Given the description of an element on the screen output the (x, y) to click on. 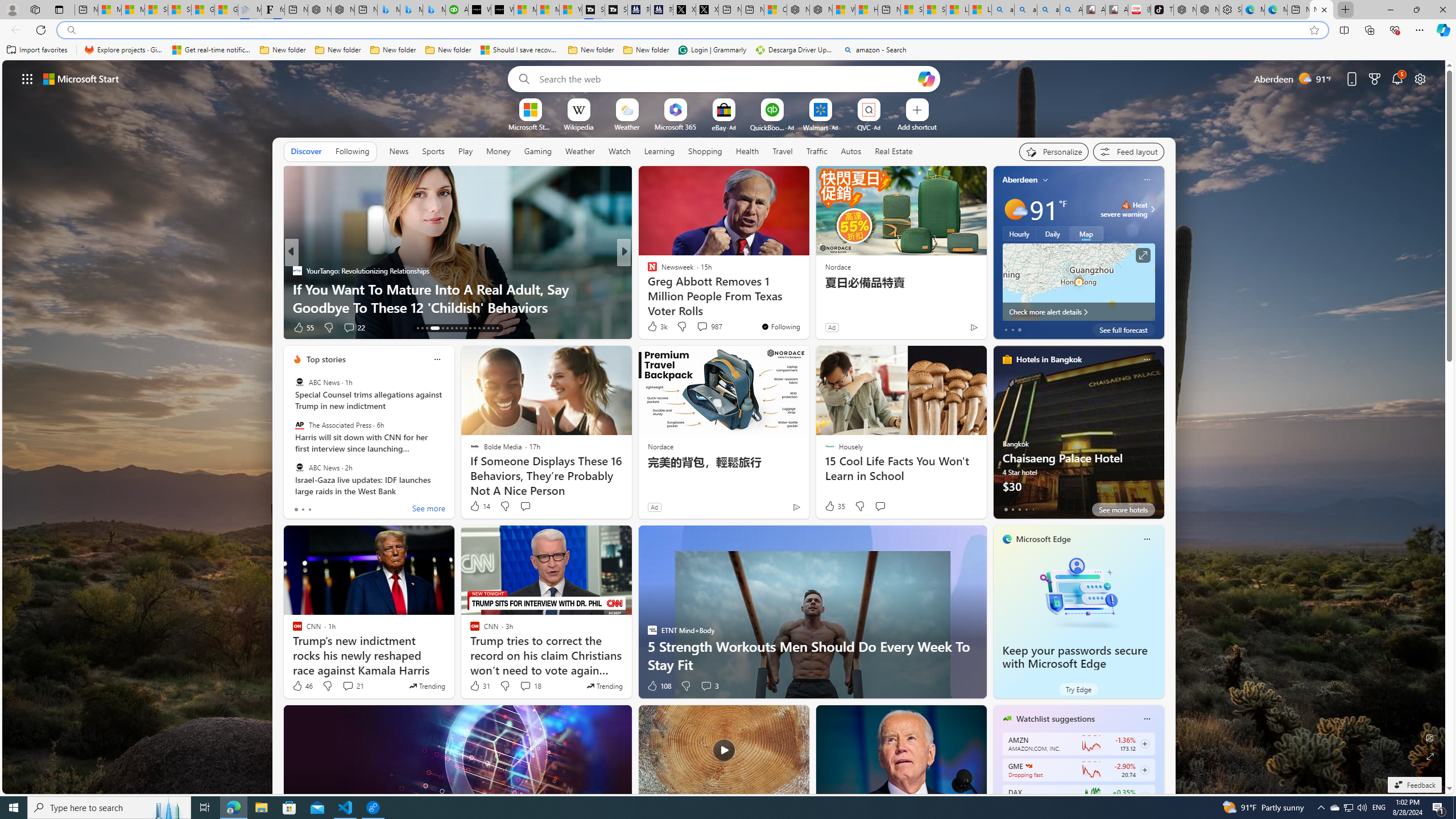
CBS News (Video) (647, 270)
Health (746, 151)
AutomationID: tab-16 (431, 328)
202 Like (654, 327)
This story is trending (604, 685)
AutomationID: tab-14 (422, 328)
108 Like (658, 685)
Gaming (537, 151)
Travel (782, 151)
tab-0 (1005, 509)
POLITICO (647, 270)
